Given the description of an element on the screen output the (x, y) to click on. 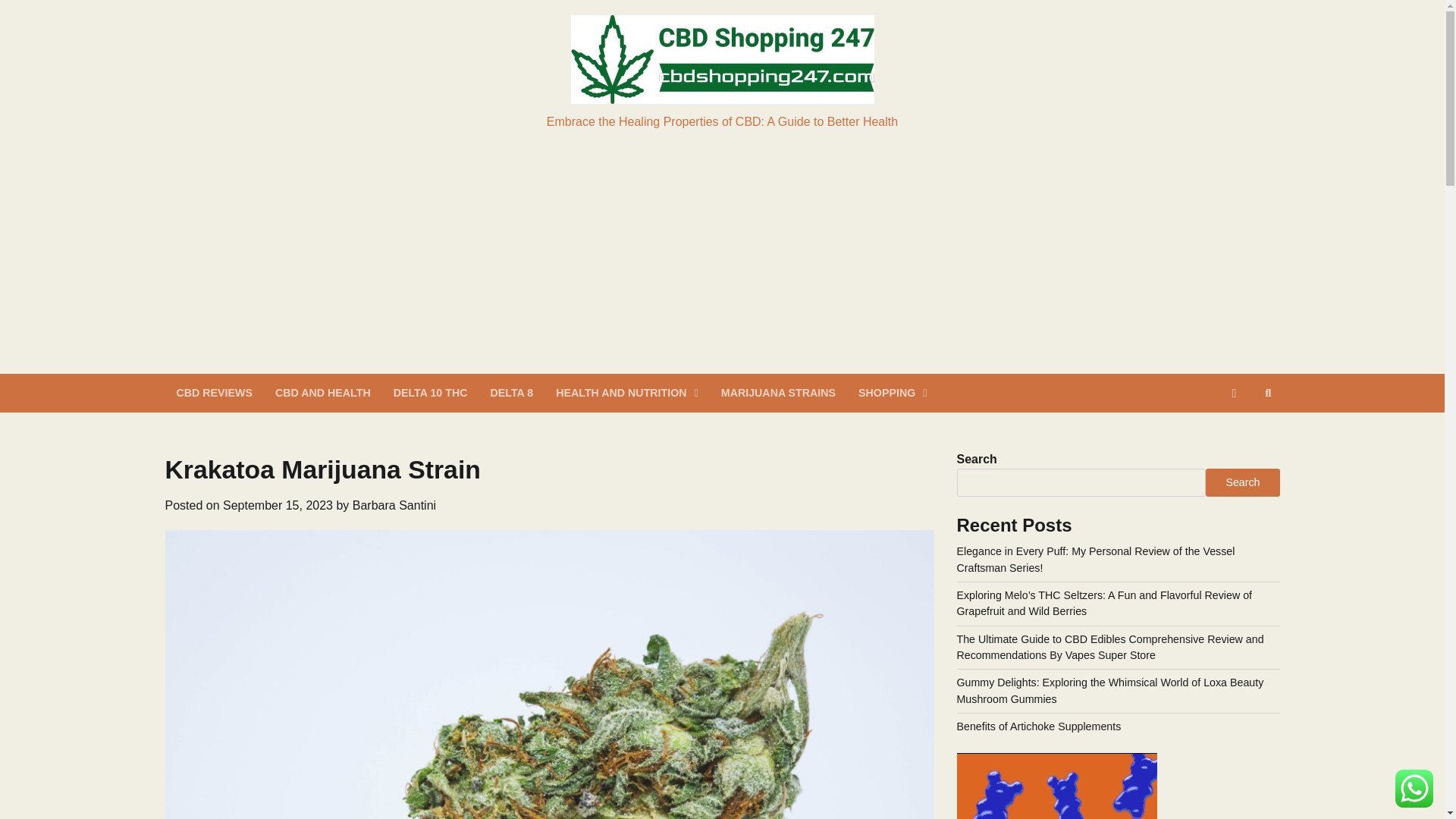
DELTA 10 THC (430, 392)
CBD AND HEALTH (322, 392)
MARIJUANA STRAINS (778, 392)
September 15, 2023 (277, 504)
SHOPPING (892, 392)
Barbara Santini (393, 504)
CBD REVIEWS (214, 392)
DELTA 8 (511, 392)
Search (1242, 482)
Search (1268, 393)
Search (1240, 431)
HEALTH AND NUTRITION (627, 392)
View Random Post (1234, 393)
